Given the description of an element on the screen output the (x, y) to click on. 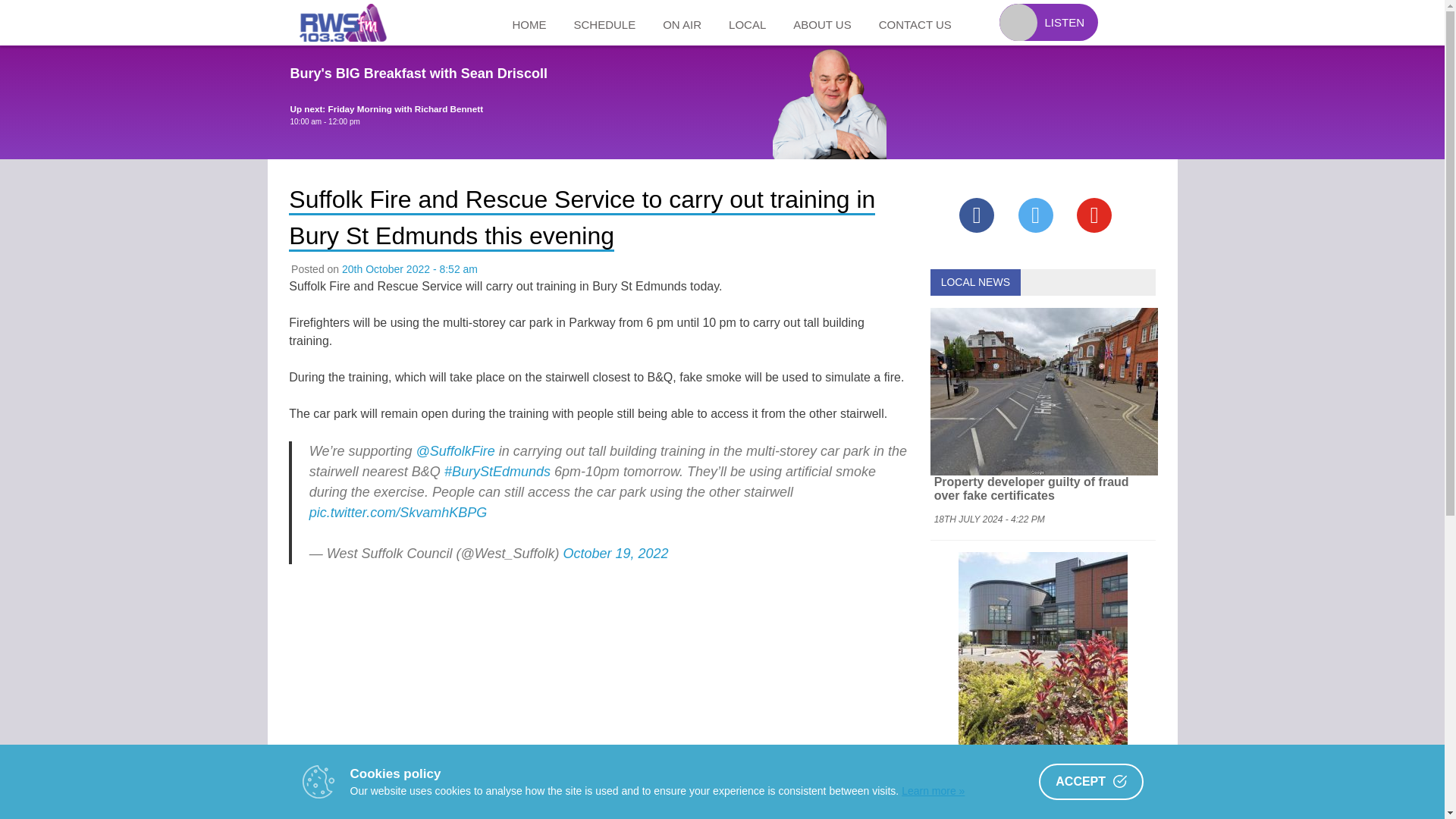
SCHEDULE (604, 22)
LOCAL (746, 22)
20th October 2022 - 8:52 am (409, 268)
HOME (529, 22)
CONTACT US (914, 22)
8:52 am (409, 268)
Bury's BIG Breakfast with Sean Driscoll (418, 73)
ABOUT US (821, 22)
ON AIR (681, 22)
